Given the description of an element on the screen output the (x, y) to click on. 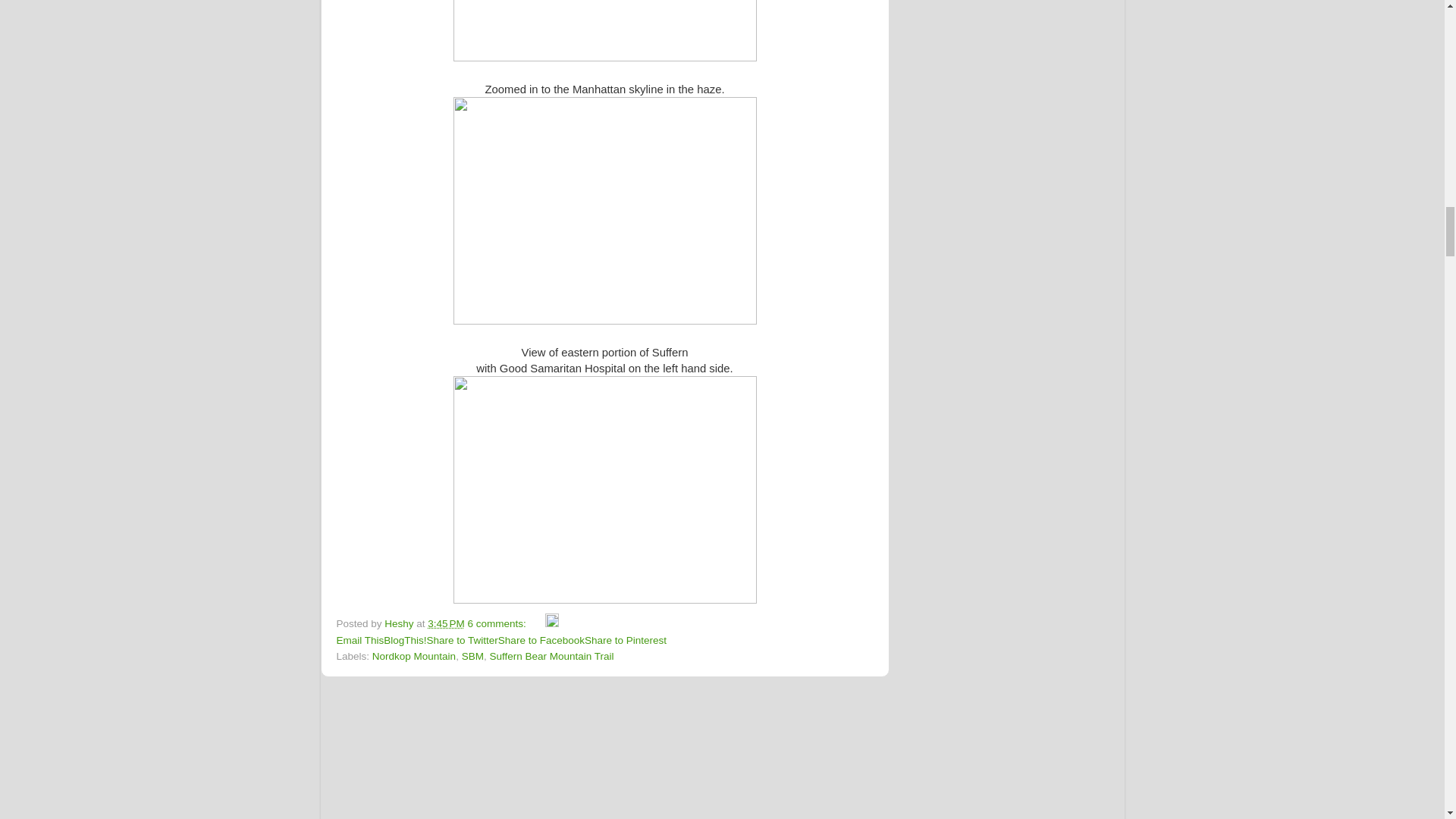
Share to Pinterest (625, 640)
Email This (360, 640)
Email This (360, 640)
permanent link (446, 623)
BlogThis! (405, 640)
SBM (472, 655)
6 comments: (498, 623)
BlogThis! (405, 640)
Edit Post (551, 623)
Nordkop Mountain (413, 655)
Email Post (537, 623)
author profile (400, 623)
Share to Facebook (541, 640)
Suffern Bear Mountain Trail (550, 655)
Share to Twitter (461, 640)
